Given the description of an element on the screen output the (x, y) to click on. 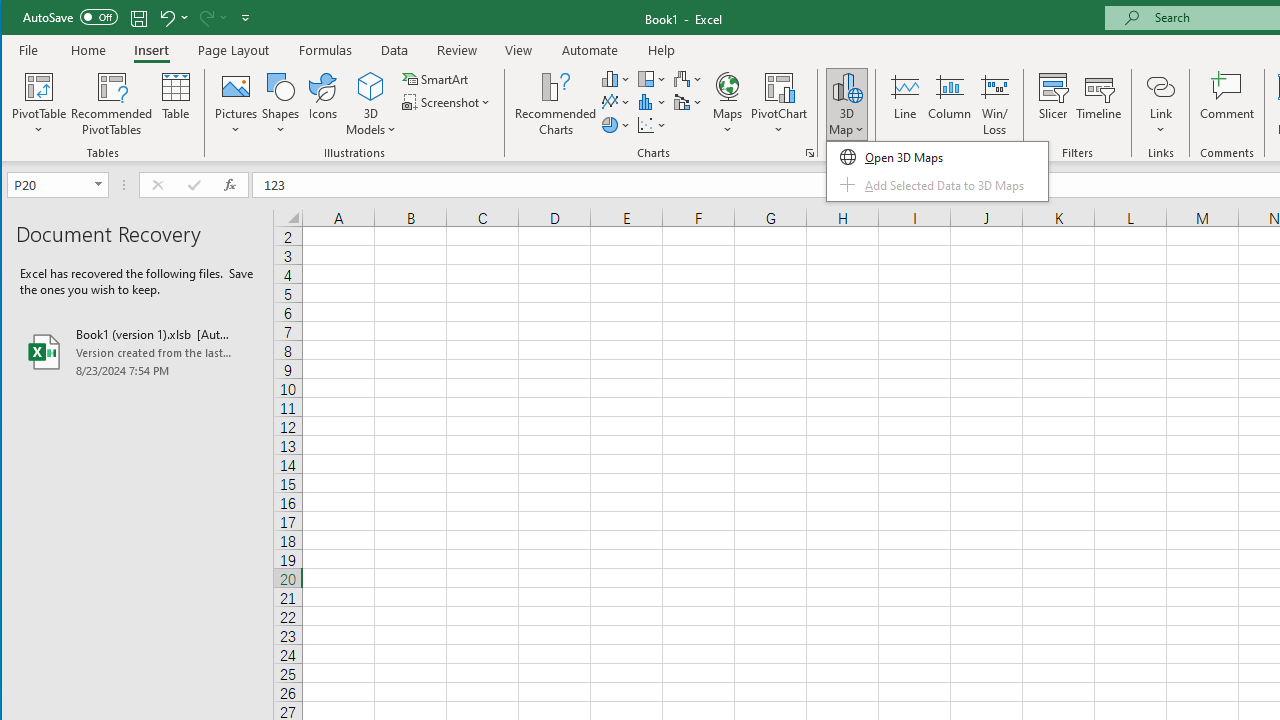
Pictures (235, 104)
Insert Column or Bar Chart (616, 78)
Table (175, 104)
Screenshot (447, 101)
Recommended Charts (809, 152)
Link (1160, 86)
Column (949, 104)
Insert Waterfall, Funnel, Stock, Surface, or Radar Chart (688, 78)
PivotChart (779, 86)
